Given the description of an element on the screen output the (x, y) to click on. 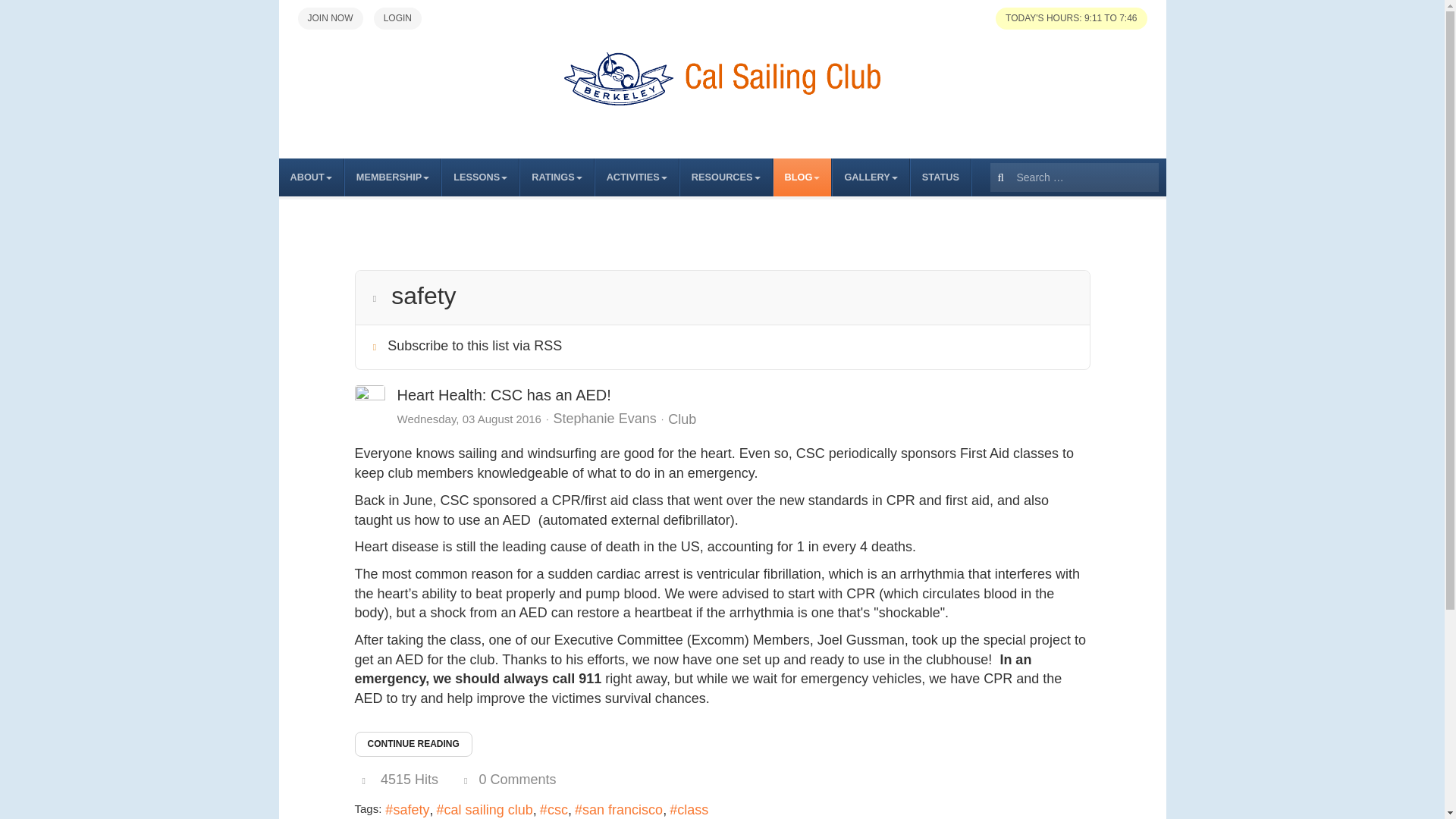
Webcams (941, 177)
LOGIN (398, 18)
Subscribe to this list via RSS (474, 345)
TODAY'S HOURS: 9:11 TO 7:46 (1071, 18)
CSC Club Status (1071, 18)
Login (398, 18)
